Given the description of an element on the screen output the (x, y) to click on. 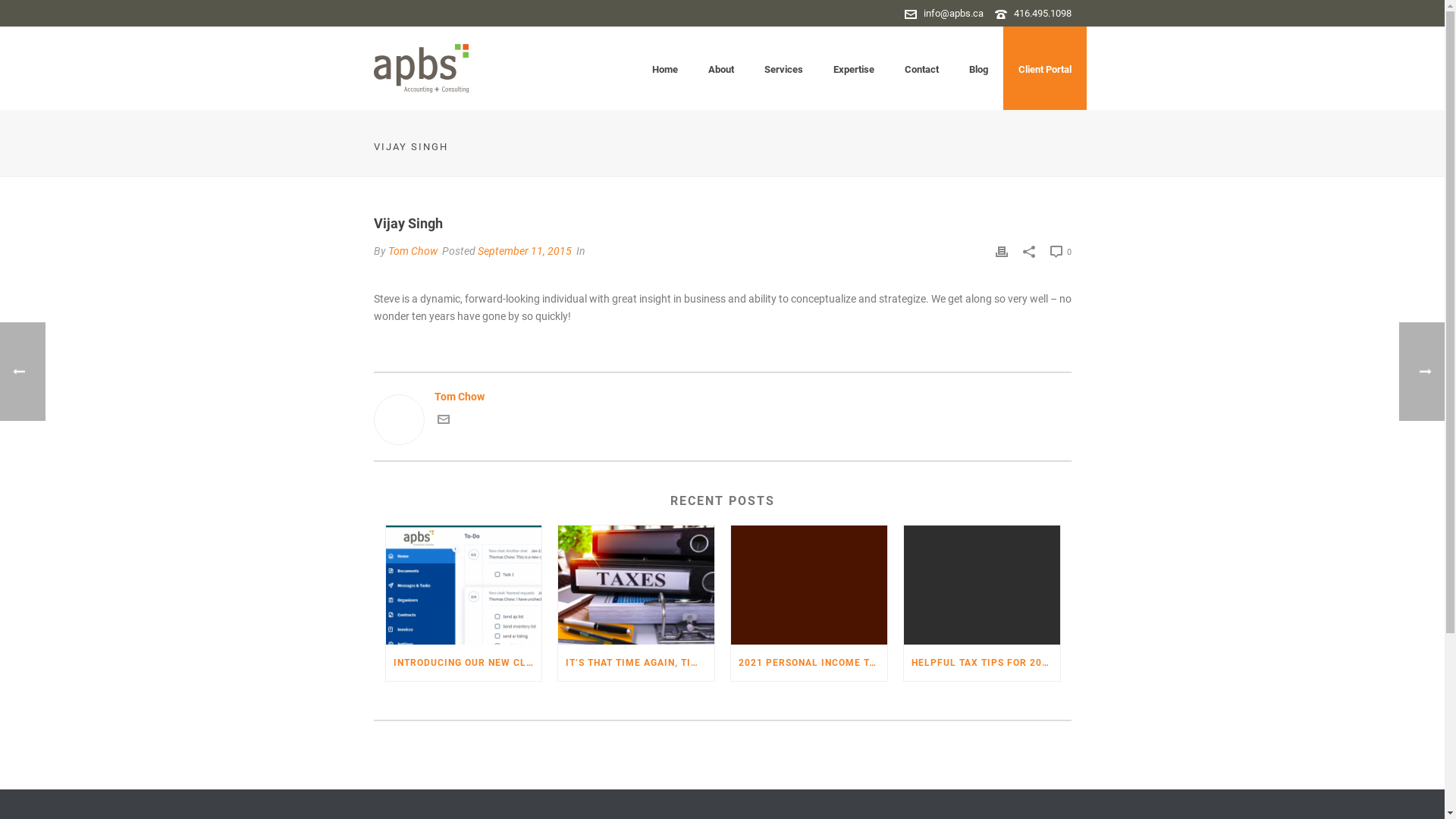
Tom Chow Element type: text (412, 250)
Print Element type: hover (1000, 251)
Contact Element type: text (920, 67)
Blog Element type: text (978, 67)
0 Element type: text (1059, 251)
INTRODUCING OUR NEW CLIENT PORTAL Element type: text (463, 662)
Introducing our new client portal Element type: hover (463, 584)
About Element type: text (721, 67)
Accounting & Consulting Element type: hover (420, 67)
HELPFUL TAX TIPS FOR 2020 Element type: text (981, 662)
2021 Personal Income Tax Organizer Element type: hover (809, 584)
Helpful tax tips for 2020 Element type: hover (981, 584)
Home Element type: text (665, 67)
Client Portal Element type: text (1043, 67)
Get in touch with me via email Element type: hover (442, 421)
2021 PERSONAL INCOME TAX ORGANIZER Element type: text (809, 662)
Expertise Element type: text (852, 67)
416.495.1098 Element type: text (1041, 12)
September 11, 2015 Element type: text (524, 250)
Services Element type: text (783, 67)
Tom Chow Element type: text (721, 396)
info@apbs.ca Element type: text (953, 12)
